Given the description of an element on the screen output the (x, y) to click on. 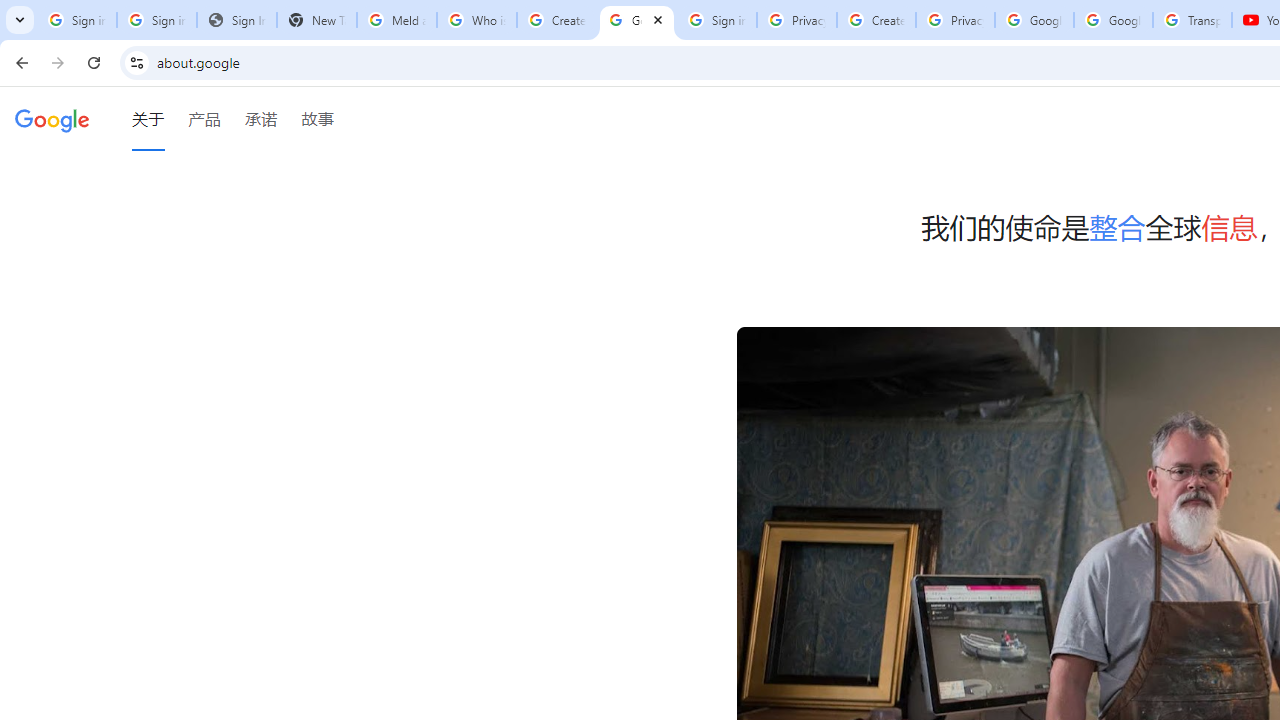
Sign In - USA TODAY (236, 20)
Create your Google Account (876, 20)
Create your Google Account (556, 20)
Sign in - Google Accounts (76, 20)
Google Account (1113, 20)
Sign in - Google Accounts (716, 20)
New Tab (316, 20)
